Given the description of an element on the screen output the (x, y) to click on. 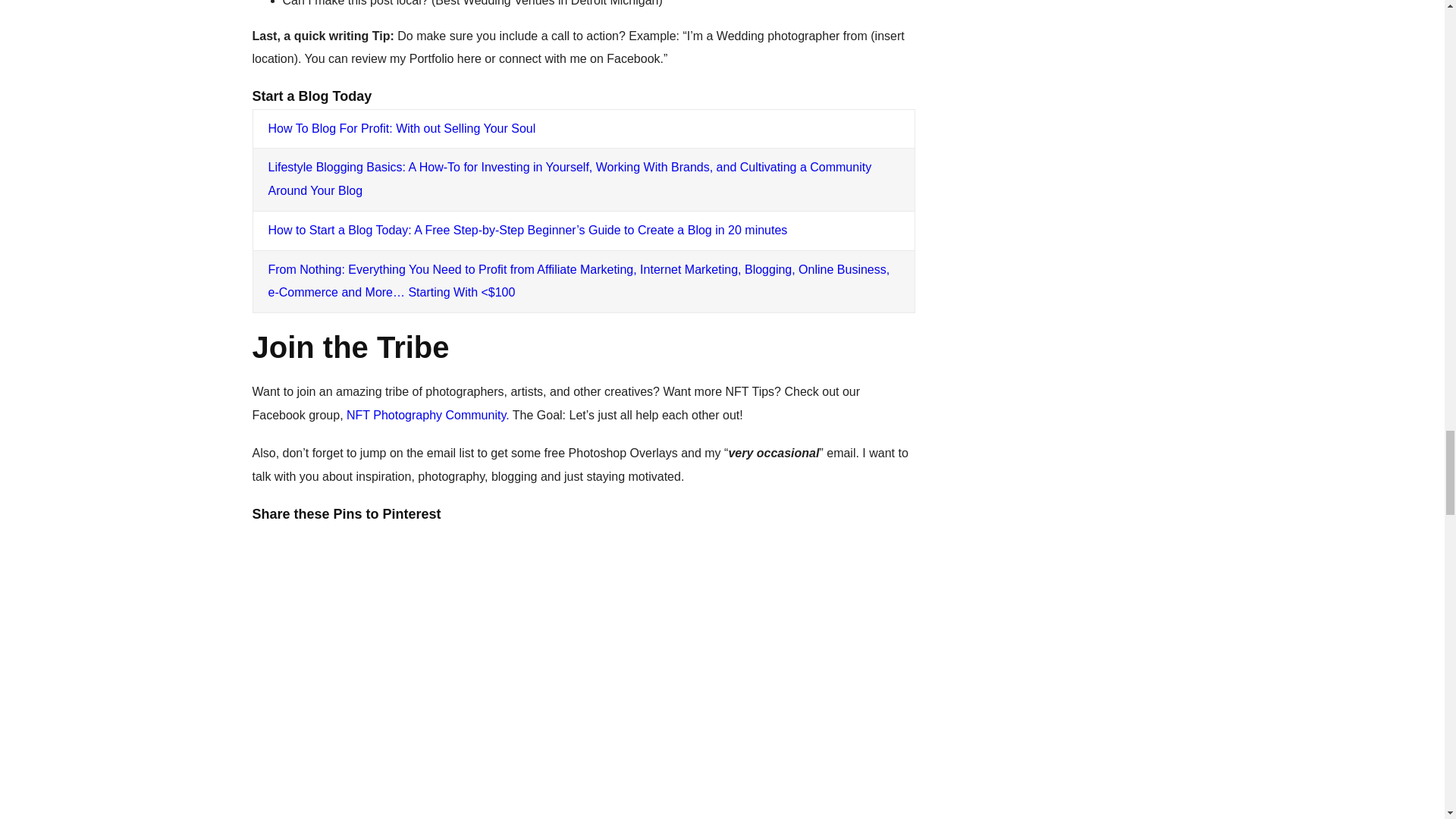
NFT Photography Community. (427, 414)
How To Blog For Profit: With out Selling Your Soul (401, 128)
